Given the description of an element on the screen output the (x, y) to click on. 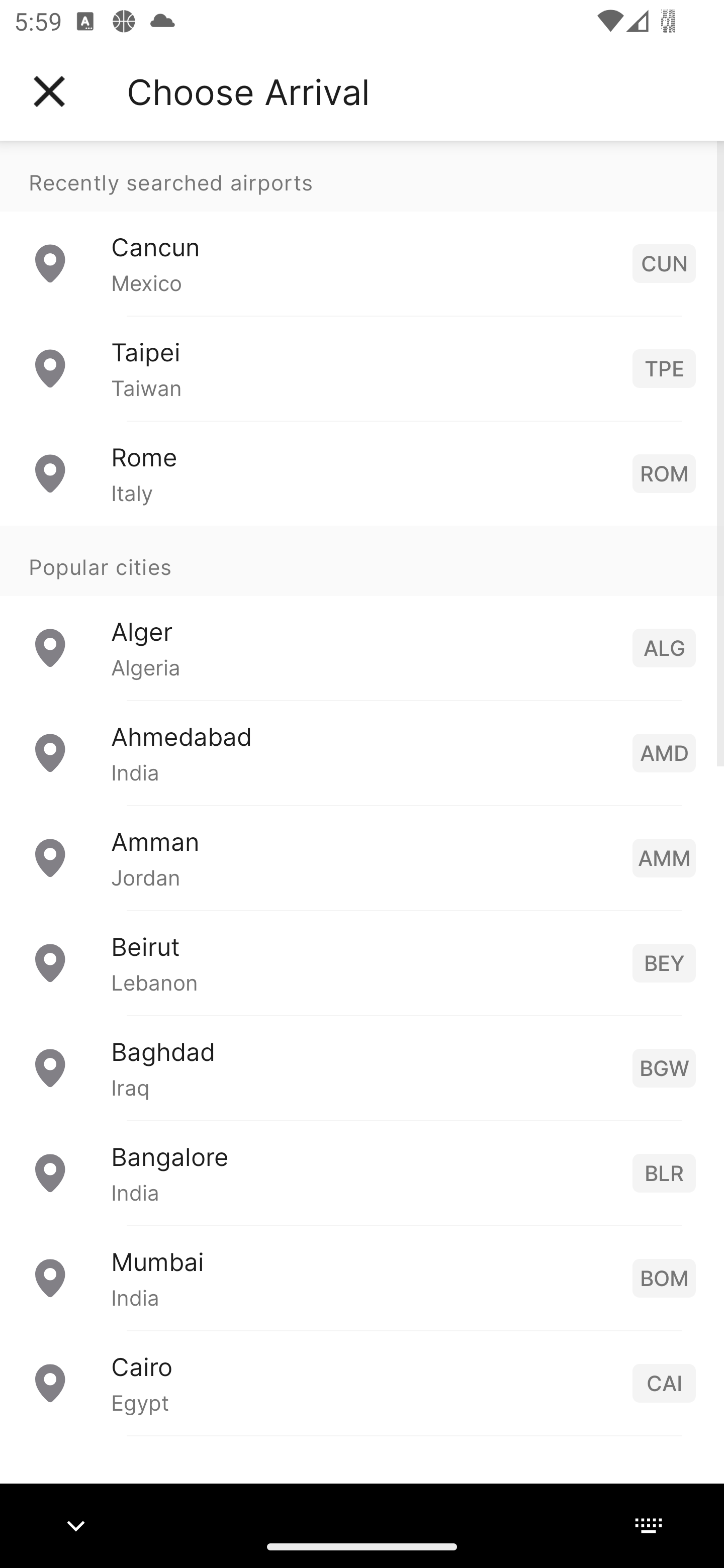
Choose Arrival (247, 91)
Recently searched airports Cancun Mexico CUN (362, 228)
Recently searched airports (362, 176)
Taipei Taiwan TPE (362, 367)
Rome Italy ROM (362, 472)
Popular cities Alger Algeria ALG (362, 612)
Popular cities (362, 560)
Ahmedabad India AMD (362, 751)
Amman Jordan AMM (362, 856)
Beirut Lebanon BEY (362, 961)
Baghdad Iraq BGW (362, 1066)
Bangalore India BLR (362, 1171)
Mumbai India BOM (362, 1276)
Cairo Egypt CAI (362, 1381)
